Given the description of an element on the screen output the (x, y) to click on. 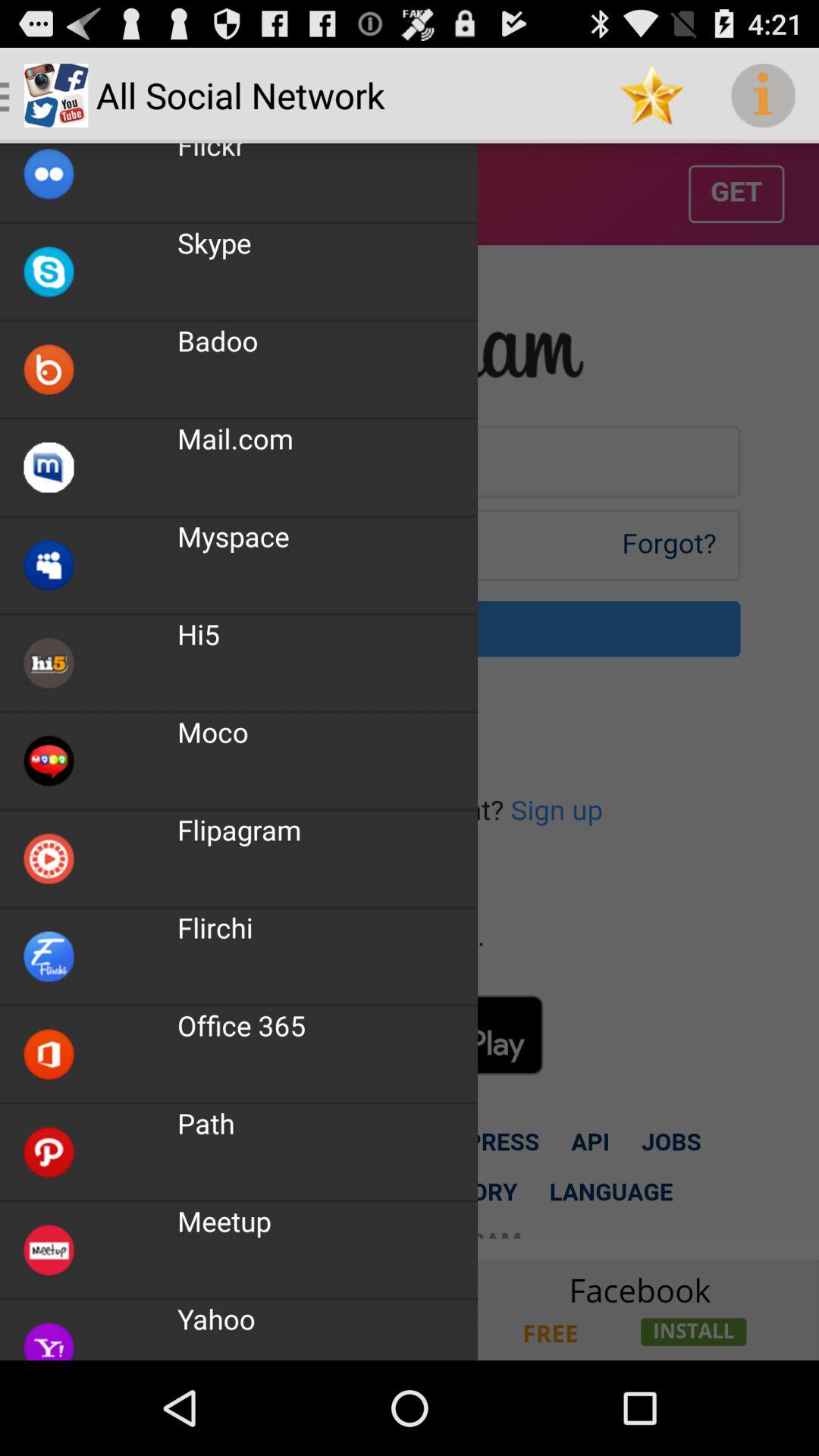
swipe until skype icon (214, 242)
